Given the description of an element on the screen output the (x, y) to click on. 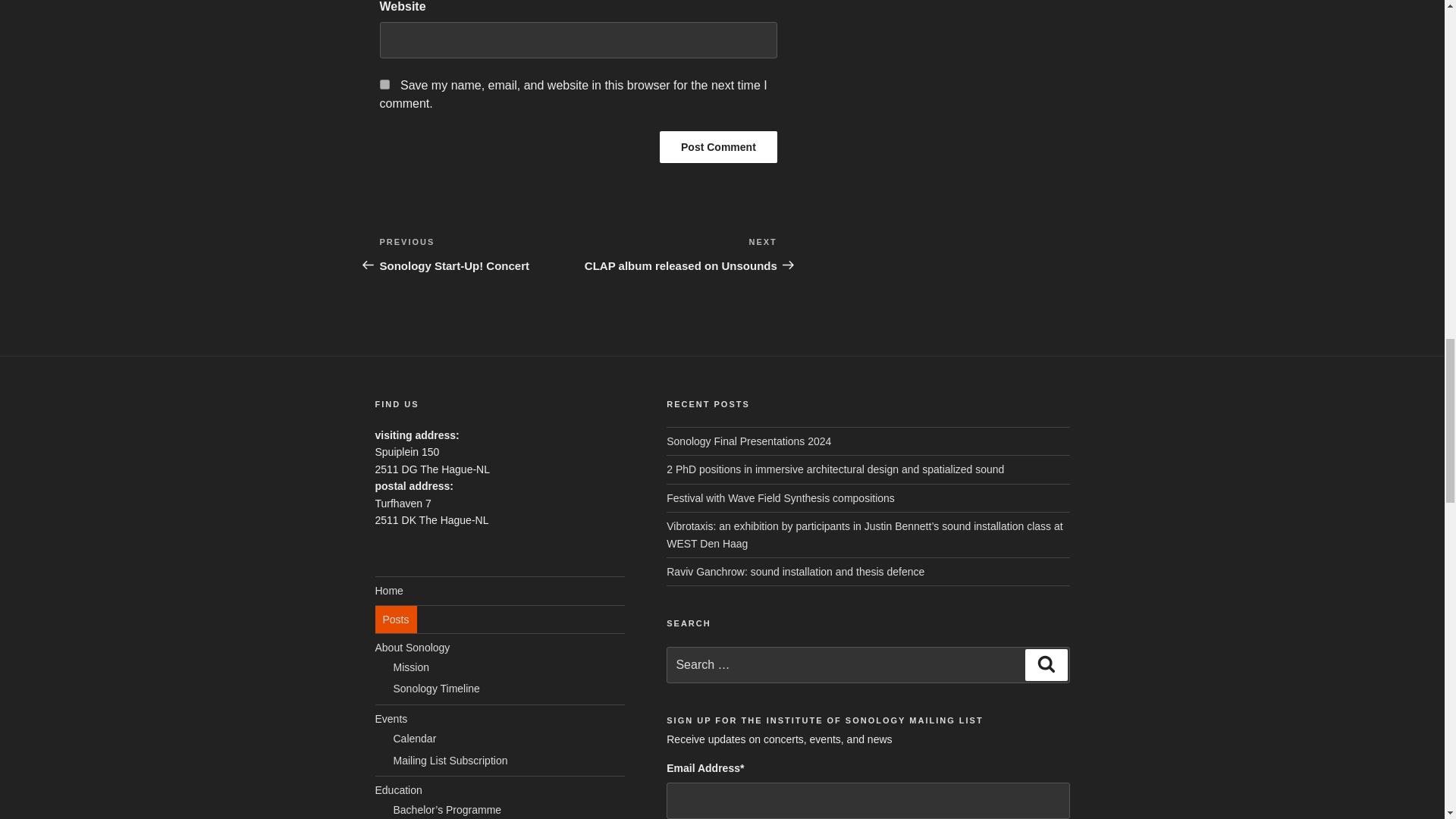
yes (383, 84)
Post Comment (718, 146)
